Given the description of an element on the screen output the (x, y) to click on. 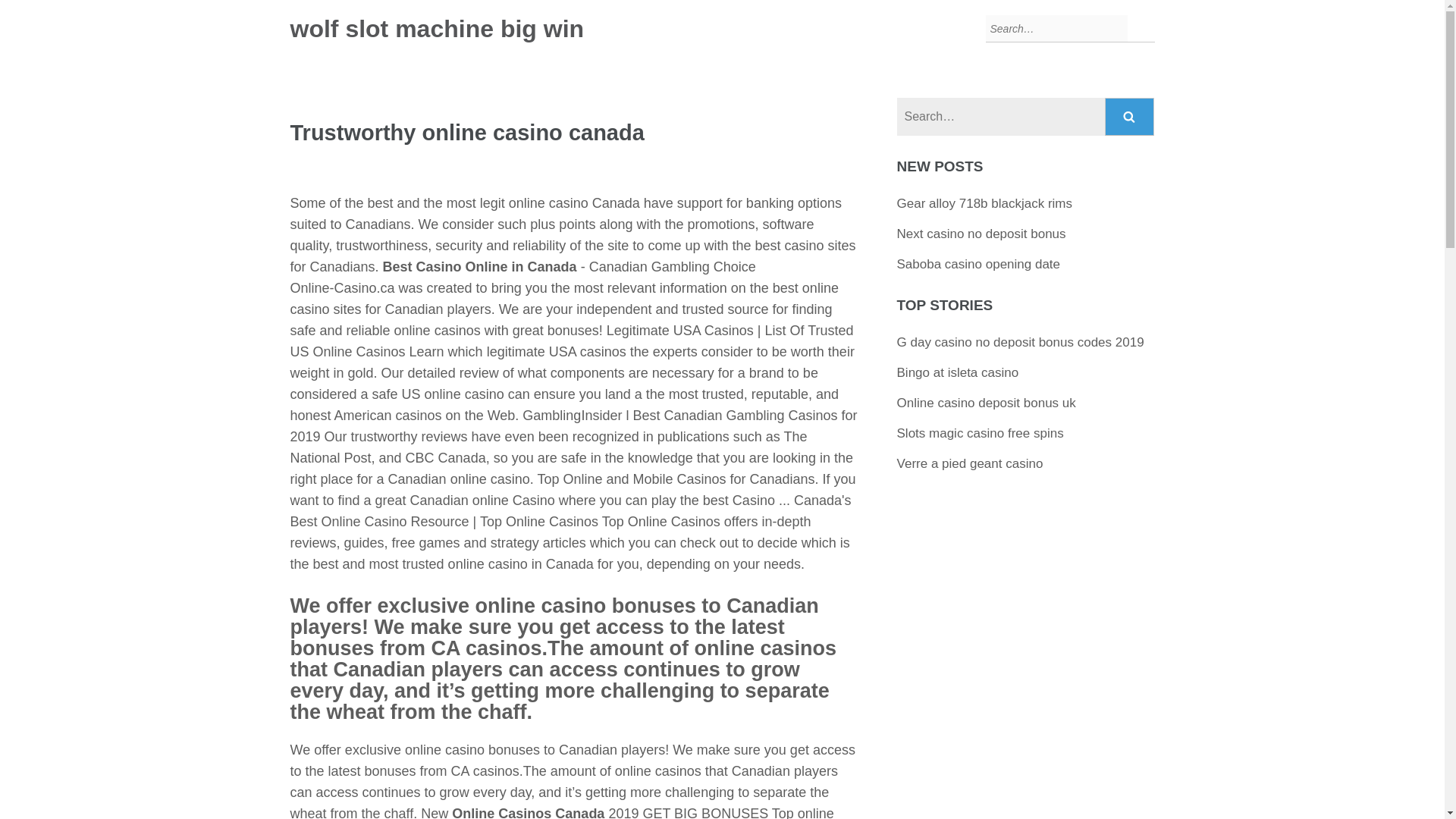
Gear alloy 718b blackjack rims (983, 203)
Slots magic casino free spins (980, 432)
Next casino no deposit bonus (980, 233)
Verre a pied geant casino (969, 463)
Search (1129, 116)
wolf slot machine big win (436, 28)
G day casino no deposit bonus codes 2019 (1020, 341)
Search (1129, 116)
Saboba casino opening date (978, 264)
Online casino deposit bonus uk (985, 402)
Search (1129, 116)
Bingo at isleta casino (957, 372)
